Given the description of an element on the screen output the (x, y) to click on. 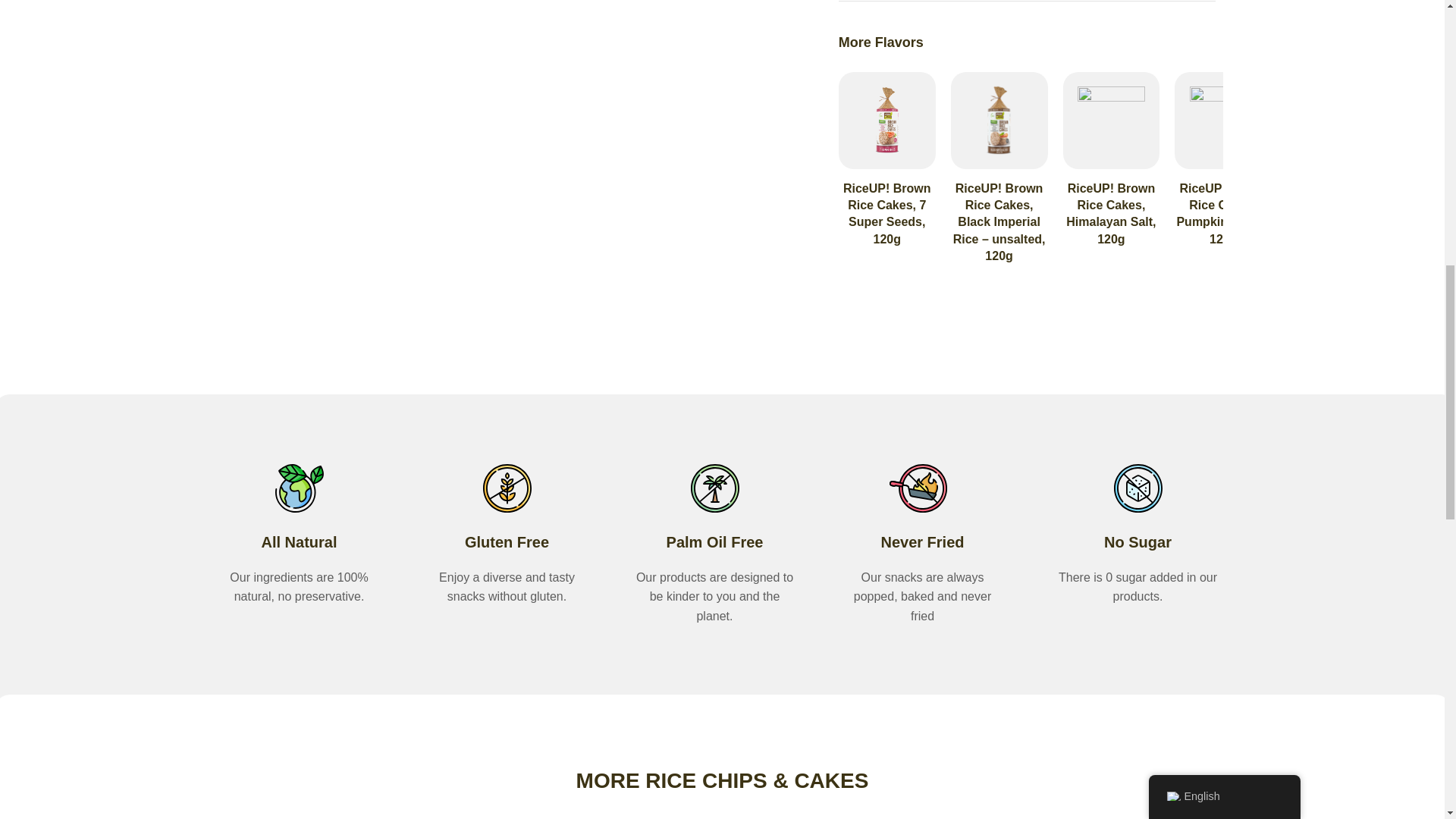
RiceUP! Brown Rice Cakes, Quinoa and Chia, 120g (1334, 213)
RiceUP! Brown Rice Cakes, 7 Super Seeds, 120g (887, 213)
RiceUP! Brown Rice Cakes, Himalayan Salt, 120g (1110, 213)
RiceUP! Brown Rice Cakes, Pumpkin Seeds, 120g (1222, 213)
